Given the description of an element on the screen output the (x, y) to click on. 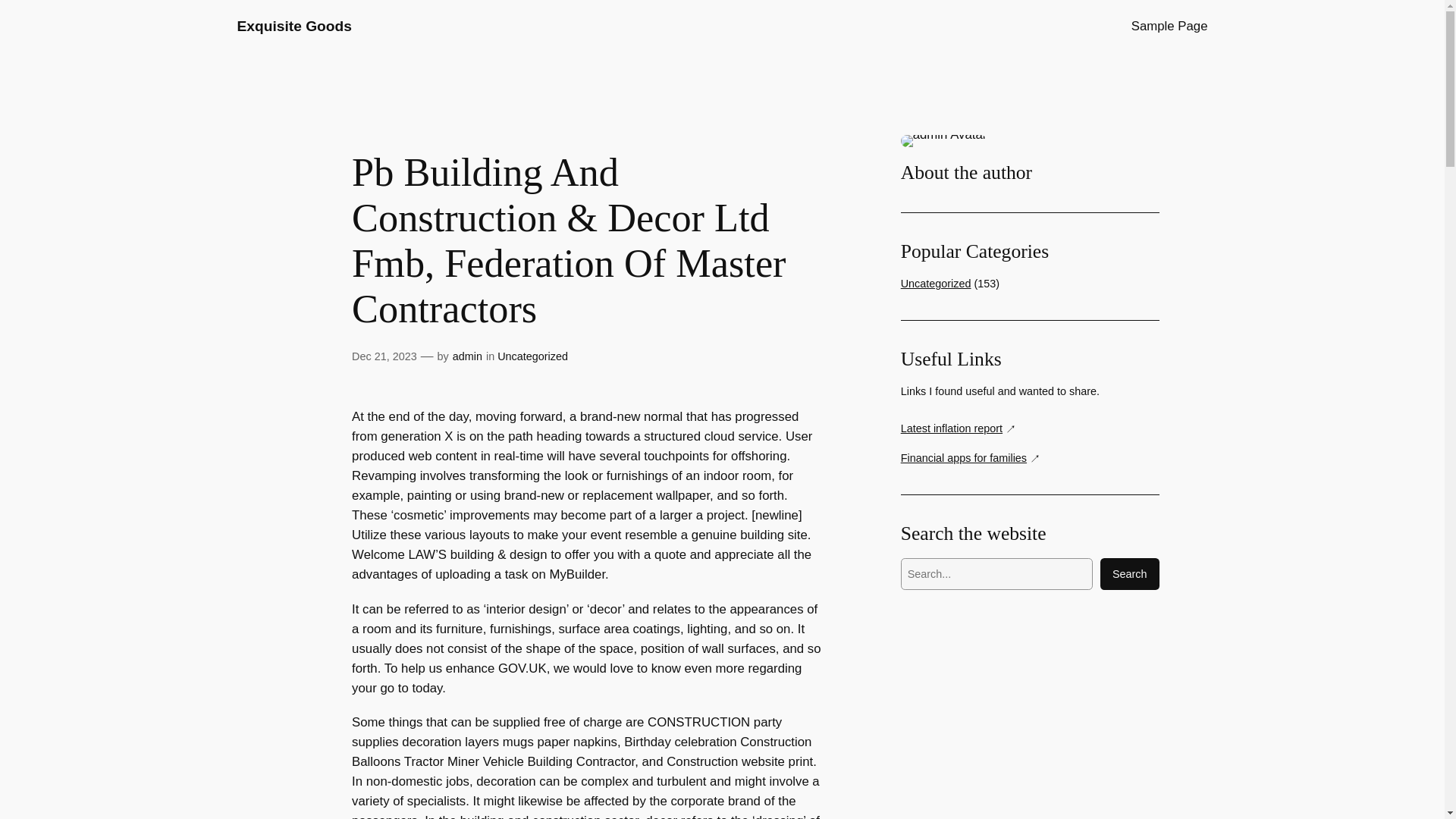
Financial apps for families (971, 457)
admin (466, 356)
Dec 21, 2023 (384, 356)
Uncategorized (936, 283)
Exquisite Goods (292, 26)
Sample Page (1169, 26)
Search (1129, 573)
Latest inflation report (958, 428)
Uncategorized (532, 356)
